Given the description of an element on the screen output the (x, y) to click on. 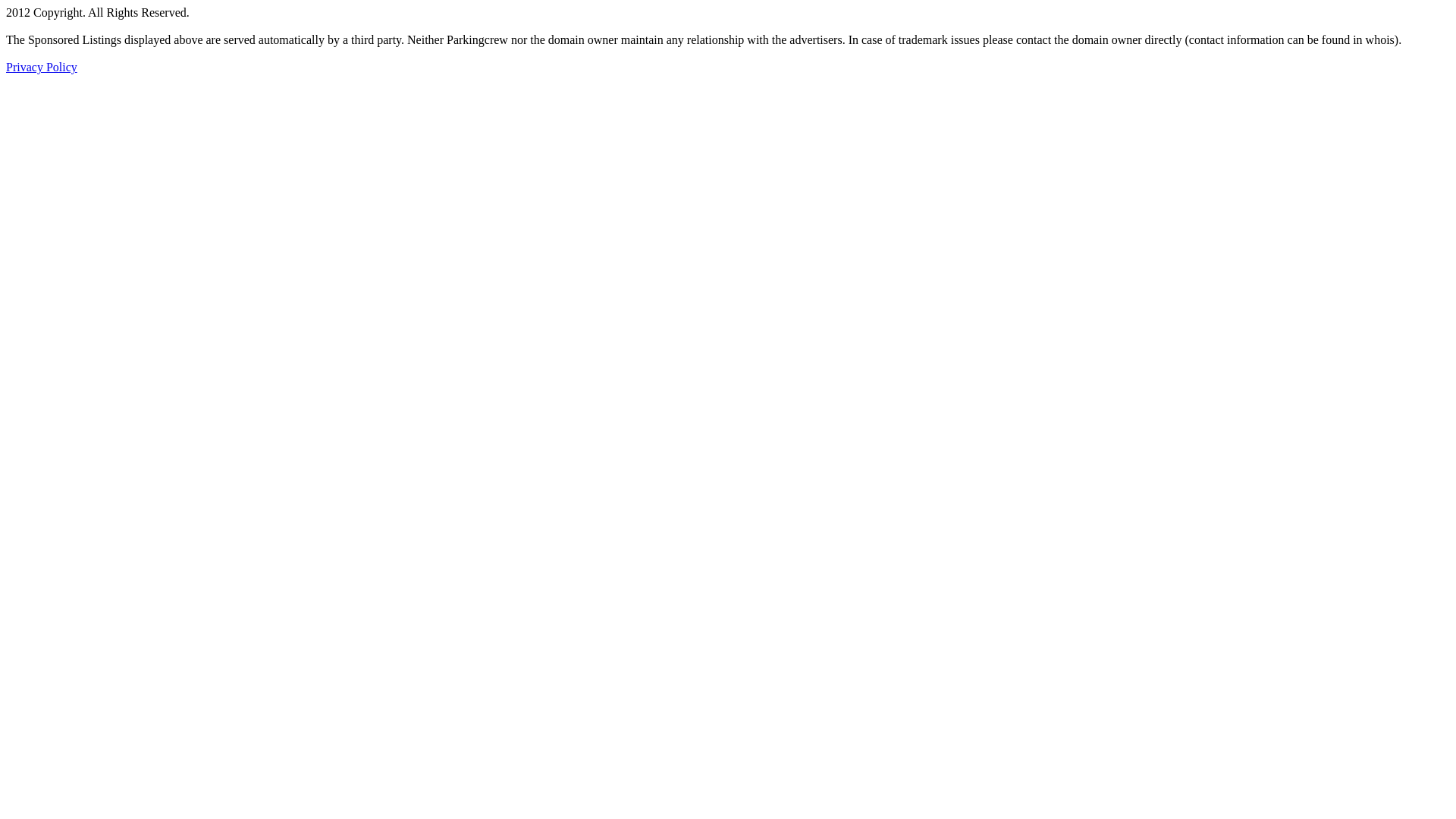
Privacy Policy Element type: text (41, 66)
